Given the description of an element on the screen output the (x, y) to click on. 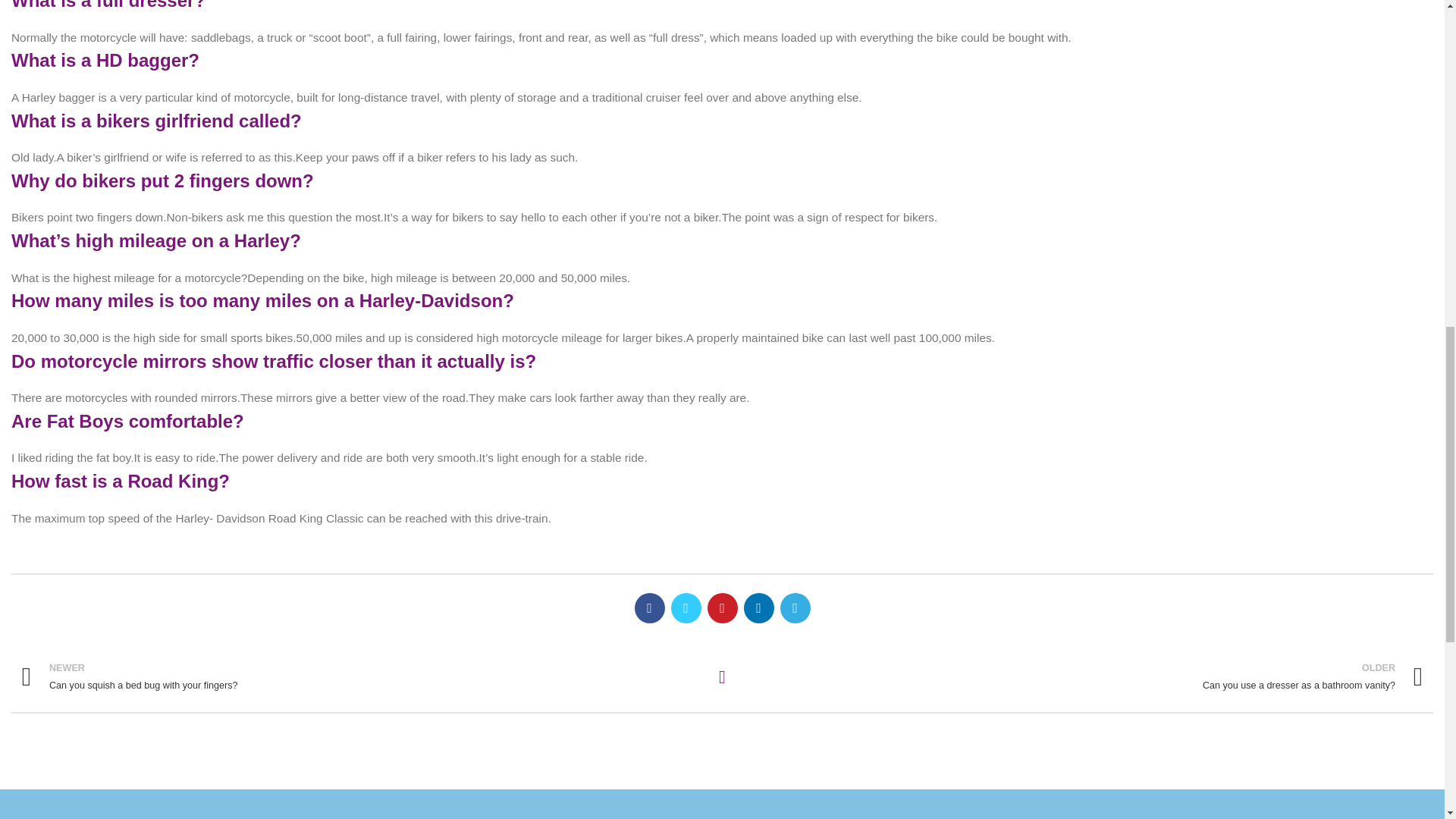
Back to list (722, 676)
